Given the description of an element on the screen output the (x, y) to click on. 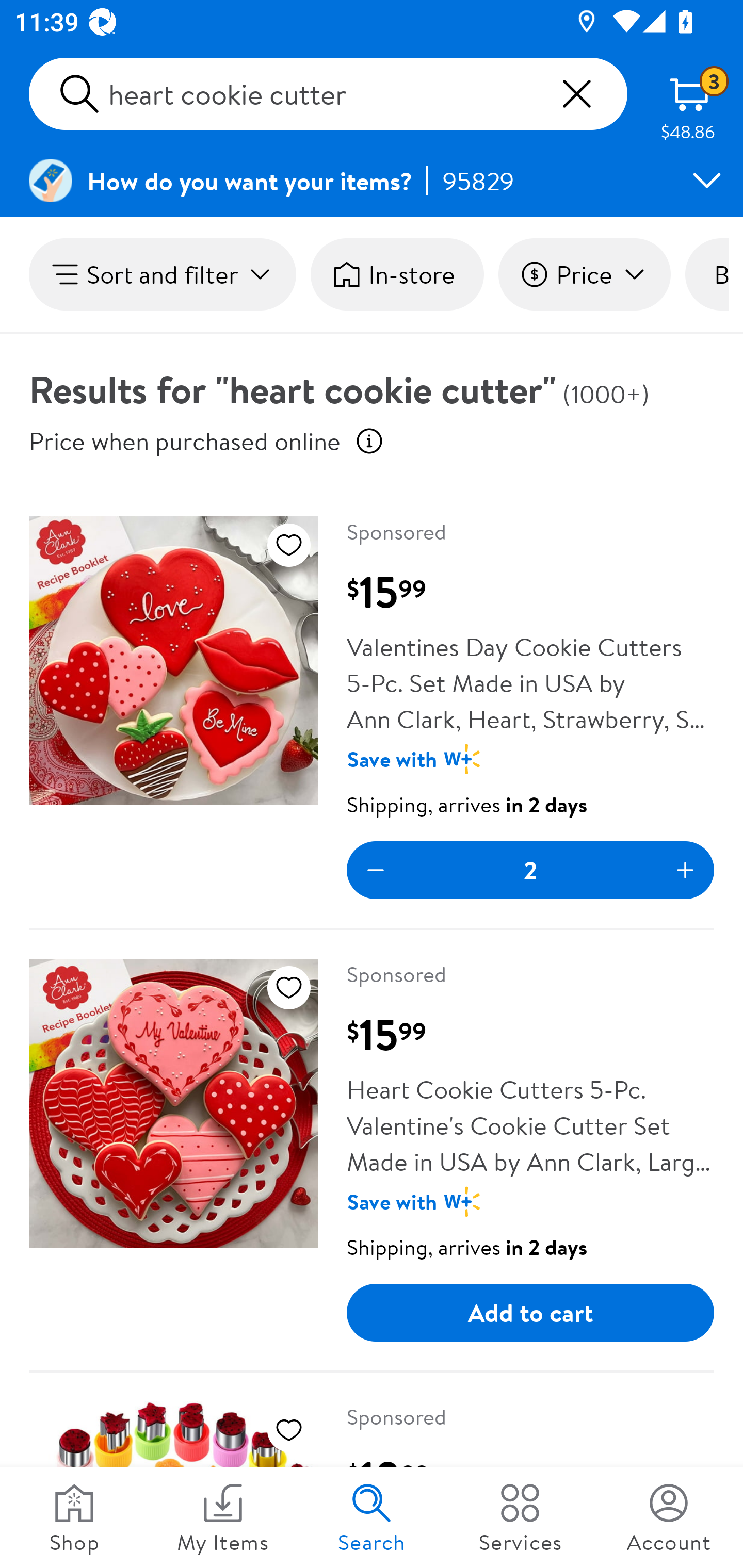
heart cookie cutter Clear Text (327, 94)
Clear Text (576, 94)
Price when purchased online (184, 440)
Price when purchased online (369, 440)
Add to cart (530, 1313)
Shop (74, 1517)
My Items (222, 1517)
Services (519, 1517)
Account (668, 1517)
